Given the description of an element on the screen output the (x, y) to click on. 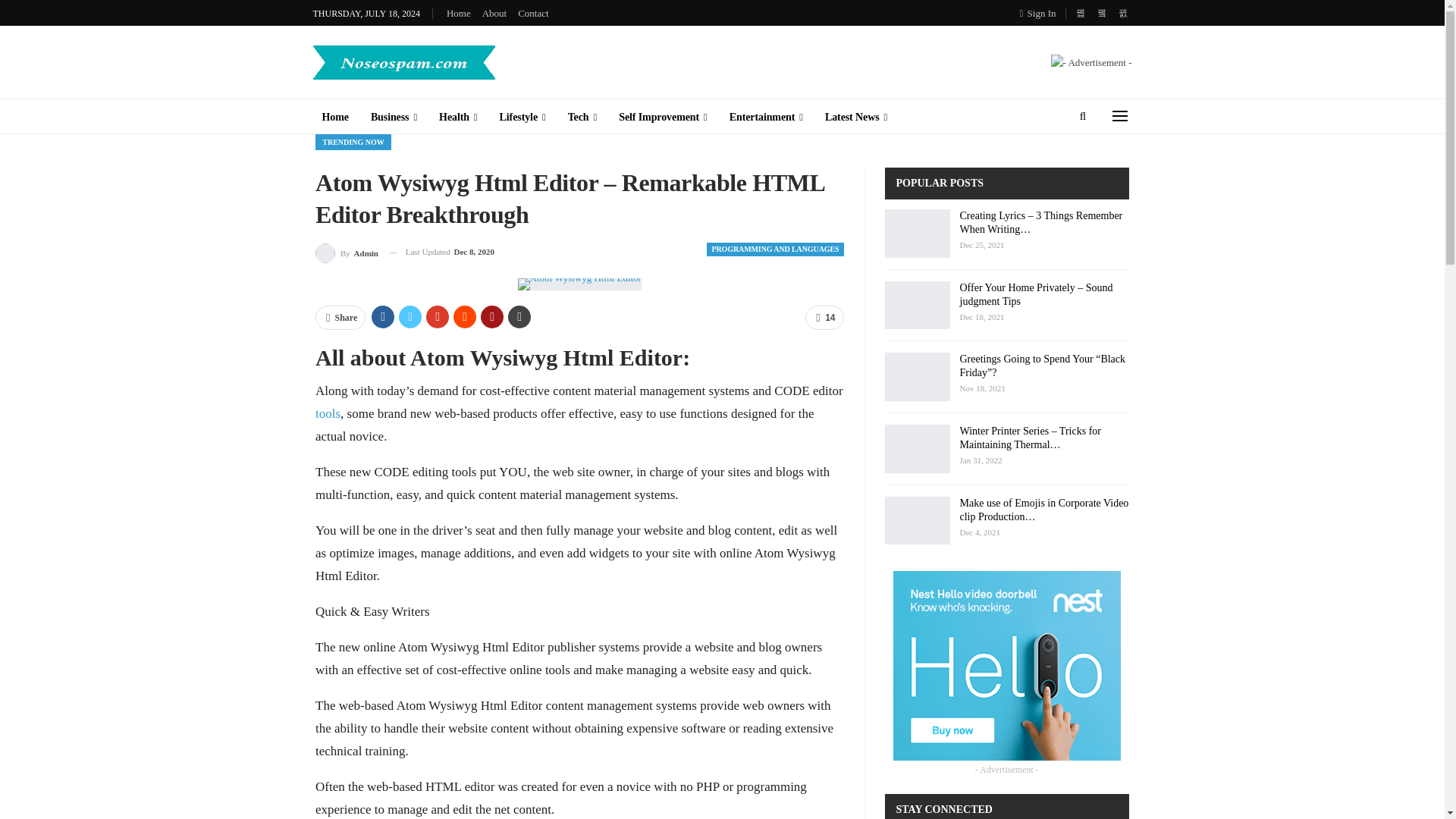
Sign In (1041, 13)
Health (457, 117)
Business (393, 117)
About (493, 12)
Home (458, 12)
Tech (583, 117)
Contact (533, 12)
Home (334, 117)
Browse Author Articles (346, 251)
Lifestyle (522, 117)
